Given the description of an element on the screen output the (x, y) to click on. 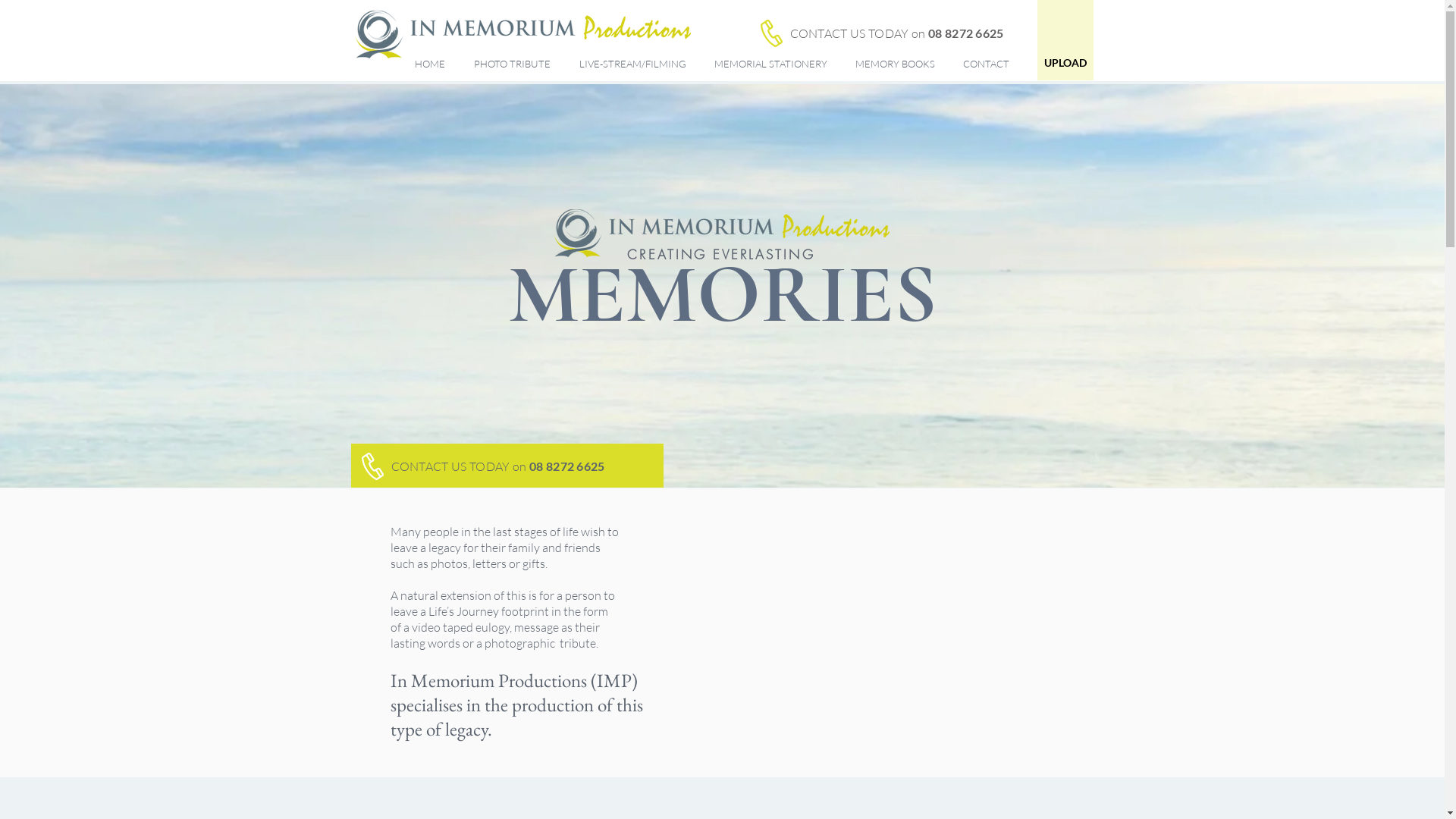
PHOTO TRIBUTE Element type: text (514, 63)
LIVE-STREAM/FILMING Element type: text (634, 63)
MEMORIAL STATIONERY Element type: text (772, 63)
MEMORY BOOKS Element type: text (896, 63)
UPLOAD Element type: text (1064, 62)
CONTACT Element type: text (987, 63)
HOME Element type: text (432, 63)
